Given the description of an element on the screen output the (x, y) to click on. 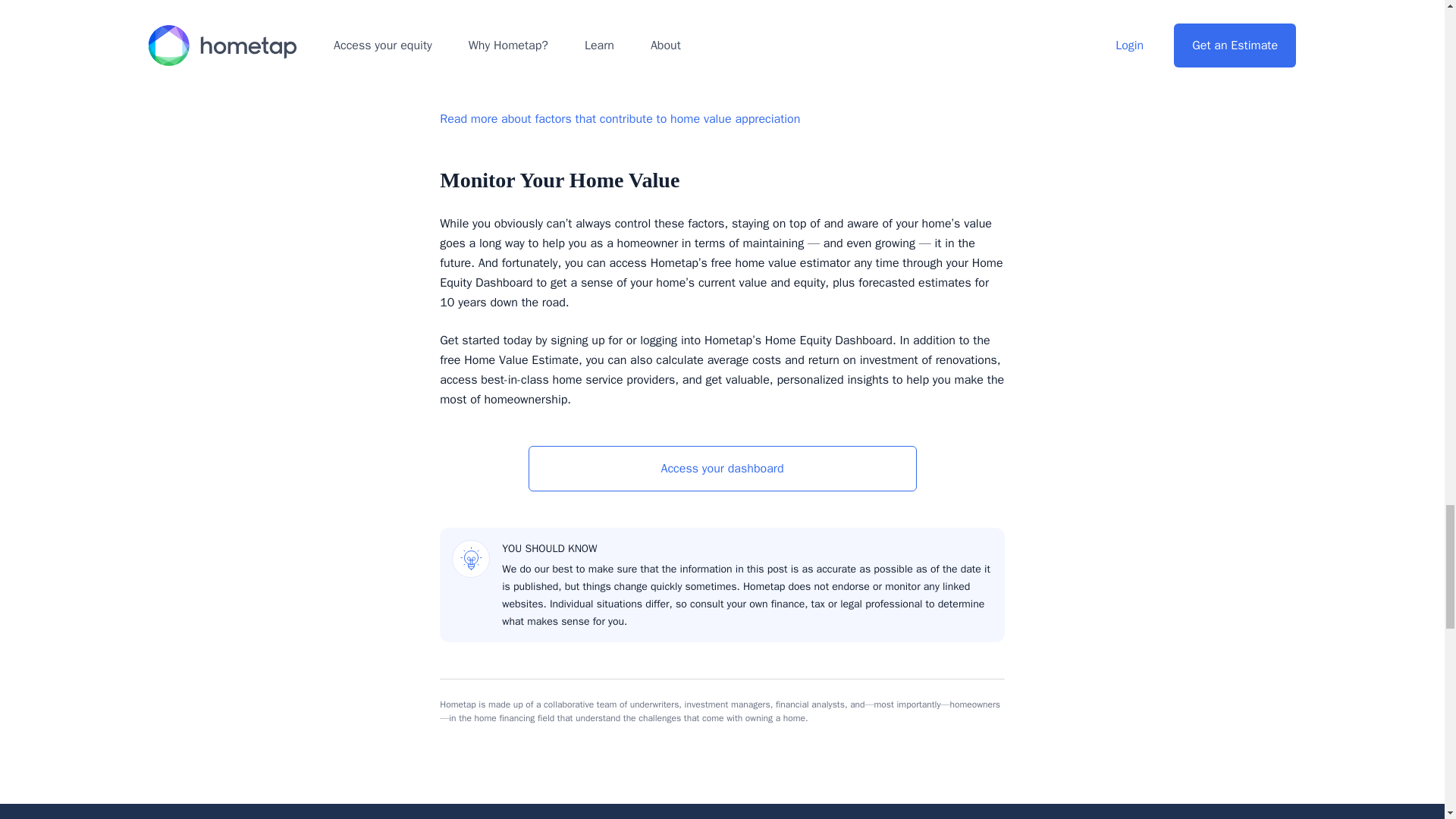
Access your dashboard (721, 468)
